Given the description of an element on the screen output the (x, y) to click on. 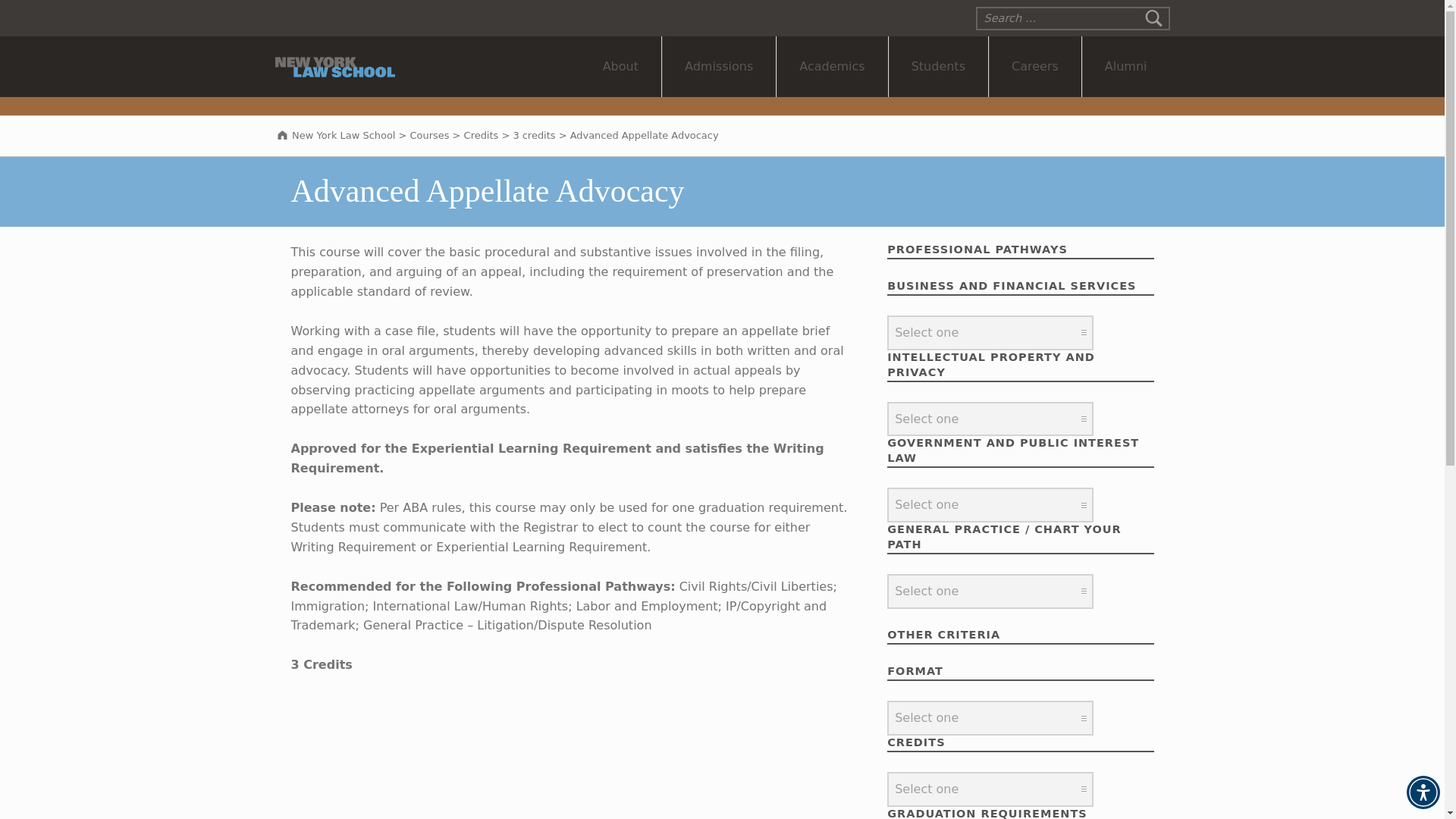
Go to the Courses category archives. (429, 134)
Go to the 3 credits category archives. (533, 134)
About (620, 66)
Academics (831, 66)
Accessibility Menu (1422, 792)
Go to New York Law School. (334, 134)
Admissions (719, 66)
Go to the Credits category archives. (481, 134)
